Given the description of an element on the screen output the (x, y) to click on. 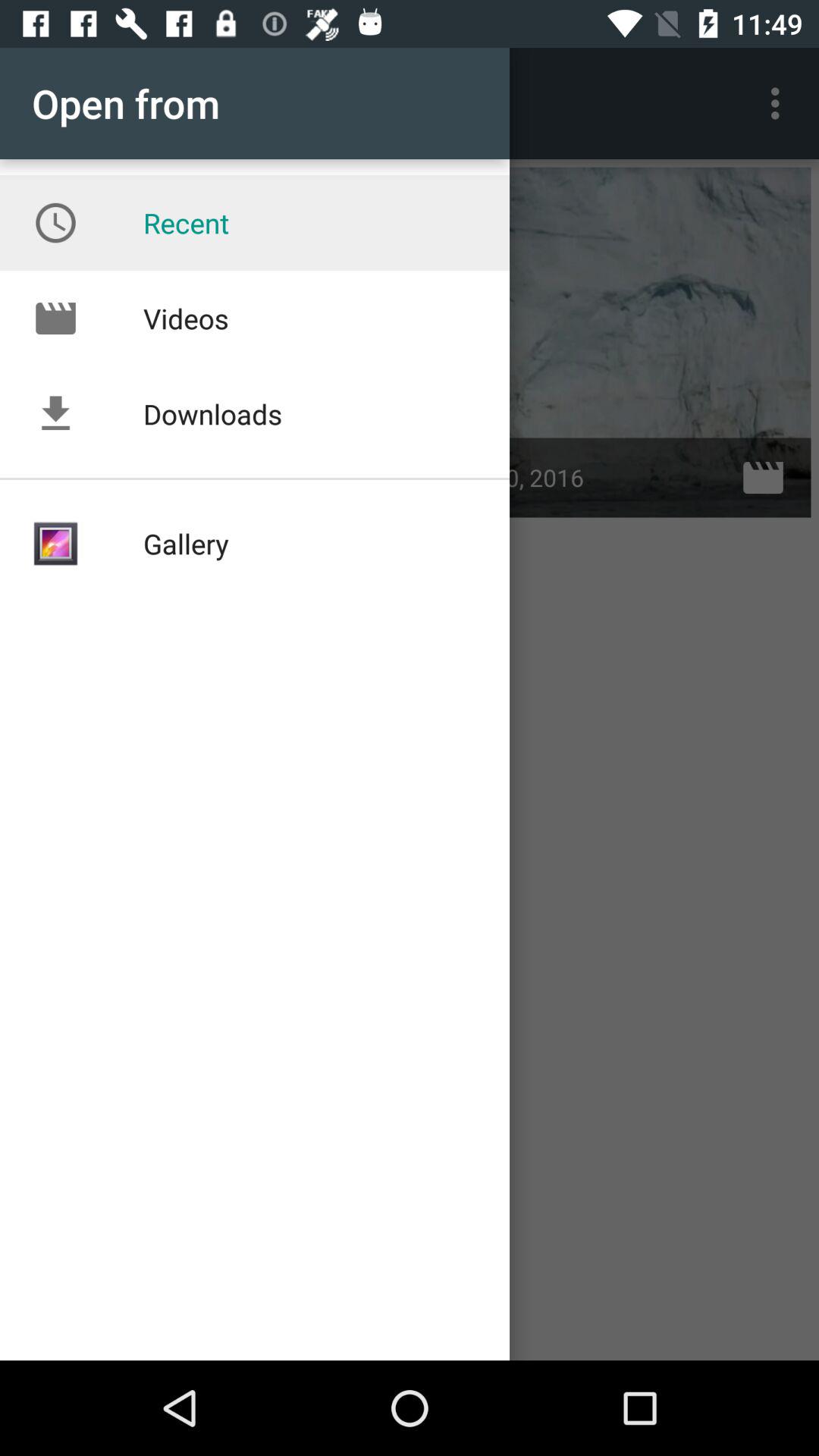
select the text gallery below downloads (206, 700)
click on video icon in right of the page (763, 478)
option below the 3 dotted vertical line icon (612, 342)
click on the gallery icon (55, 543)
